Given the description of an element on the screen output the (x, y) to click on. 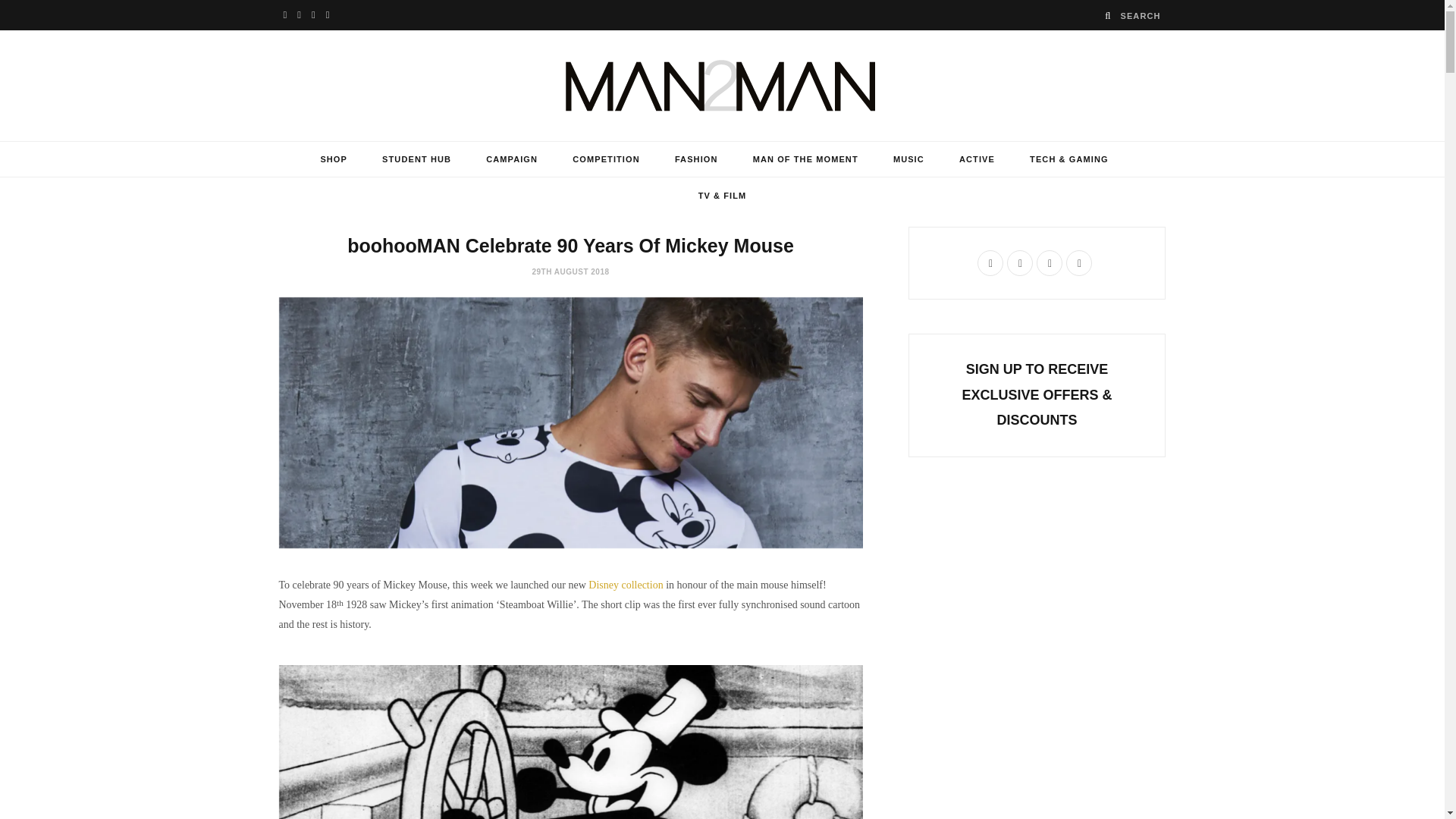
MAN OF THE MOMENT (805, 158)
Disney collection (625, 584)
COMPETITION (606, 158)
CAMPAIGN (511, 158)
SHOP (333, 158)
Man2Man (722, 85)
STUDENT HUB (416, 158)
MUSIC (908, 158)
ACTIVE (976, 158)
29TH AUGUST 2018 (569, 271)
FASHION (696, 158)
